Given the description of an element on the screen output the (x, y) to click on. 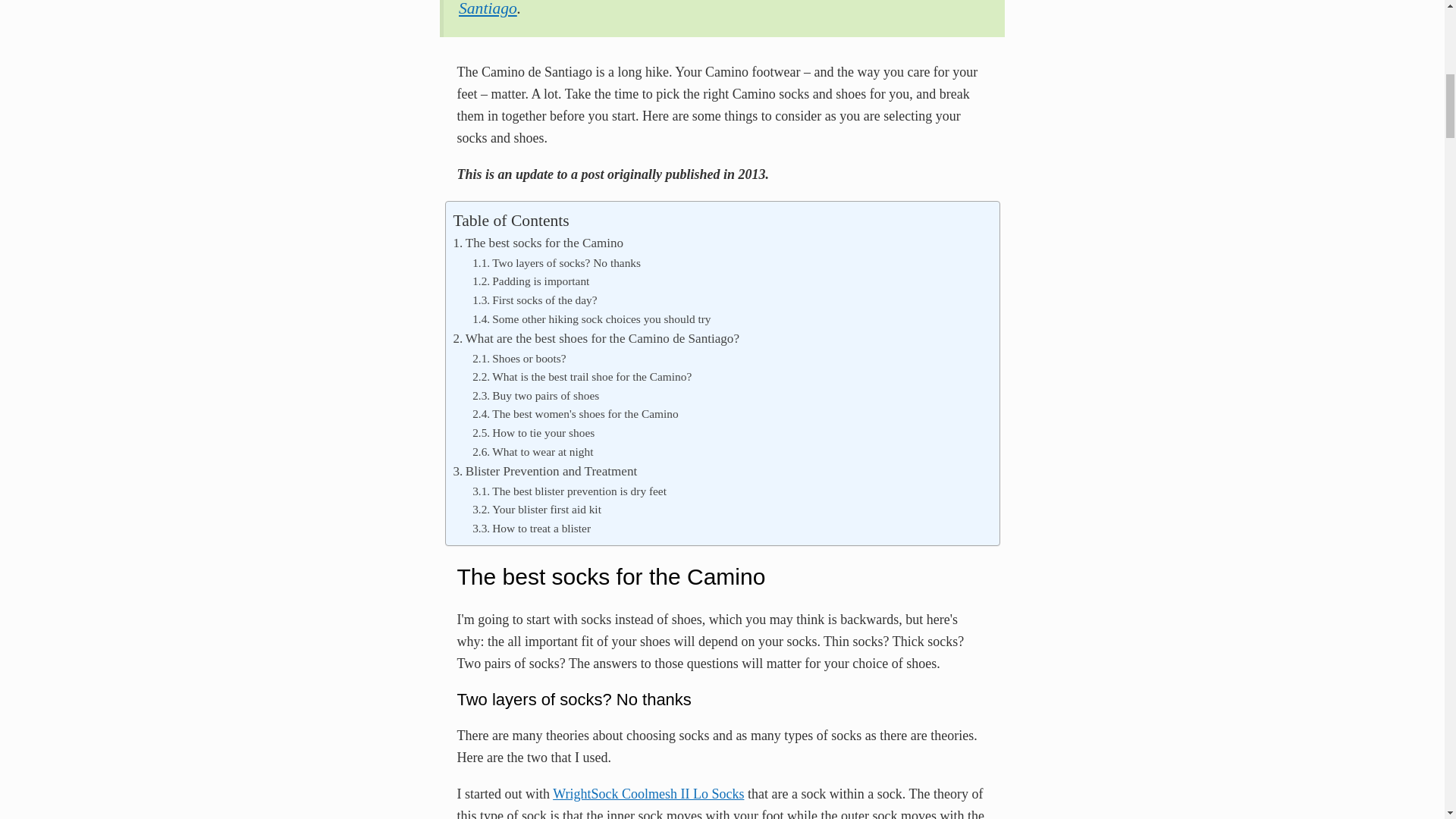
What to wear at night (531, 452)
Camino de Santiago (723, 9)
Some other hiking sock choices you should try (590, 319)
Two layers of socks? No thanks (555, 262)
First socks of the day? (533, 300)
Shoes or boots? (518, 357)
Two layers of socks? No thanks (555, 262)
The best socks for the Camino (538, 242)
The best socks for the Camino (538, 242)
Buy two pairs of shoes (534, 395)
